Given the description of an element on the screen output the (x, y) to click on. 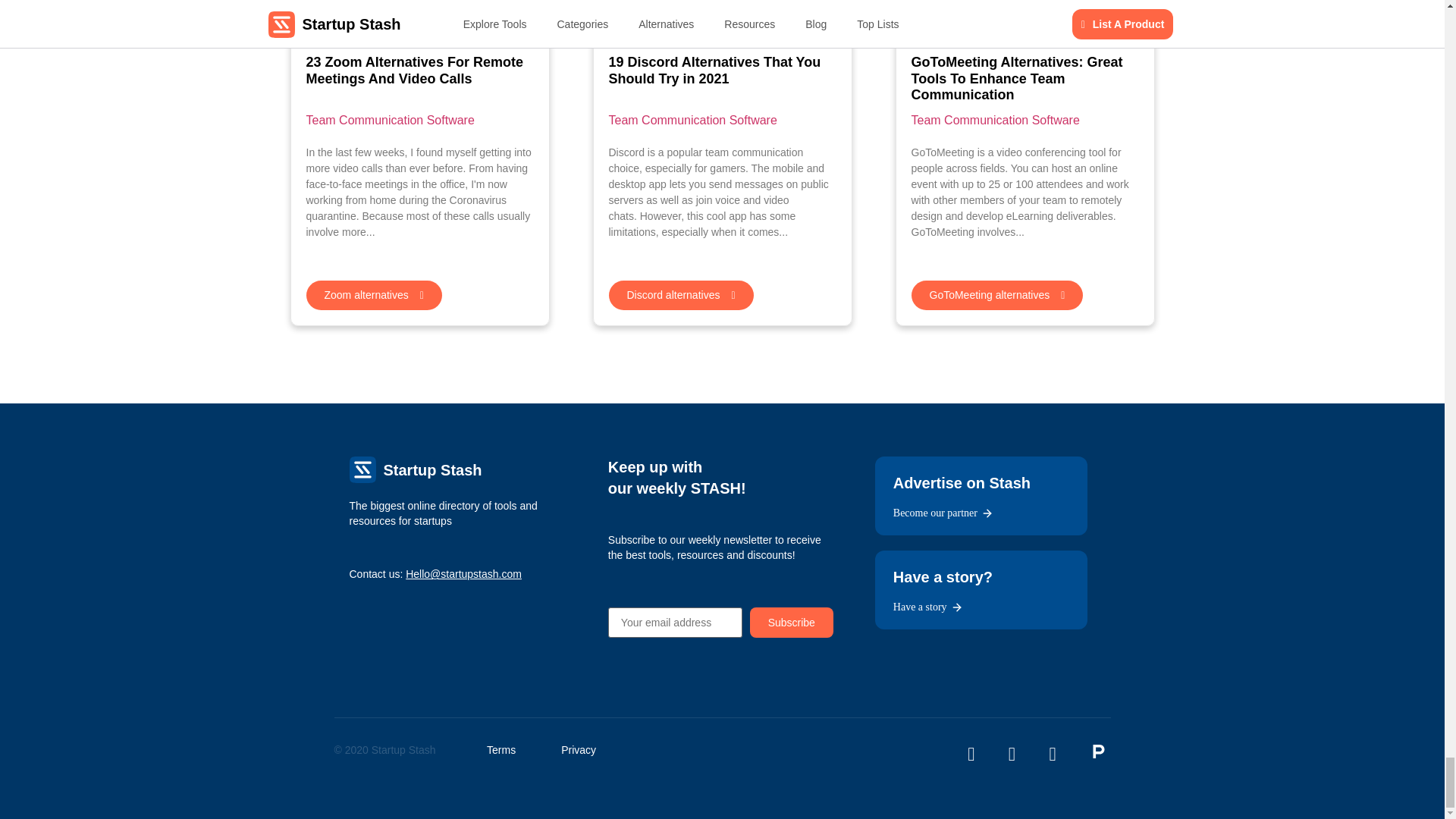
Subscribe (790, 622)
